Given the description of an element on the screen output the (x, y) to click on. 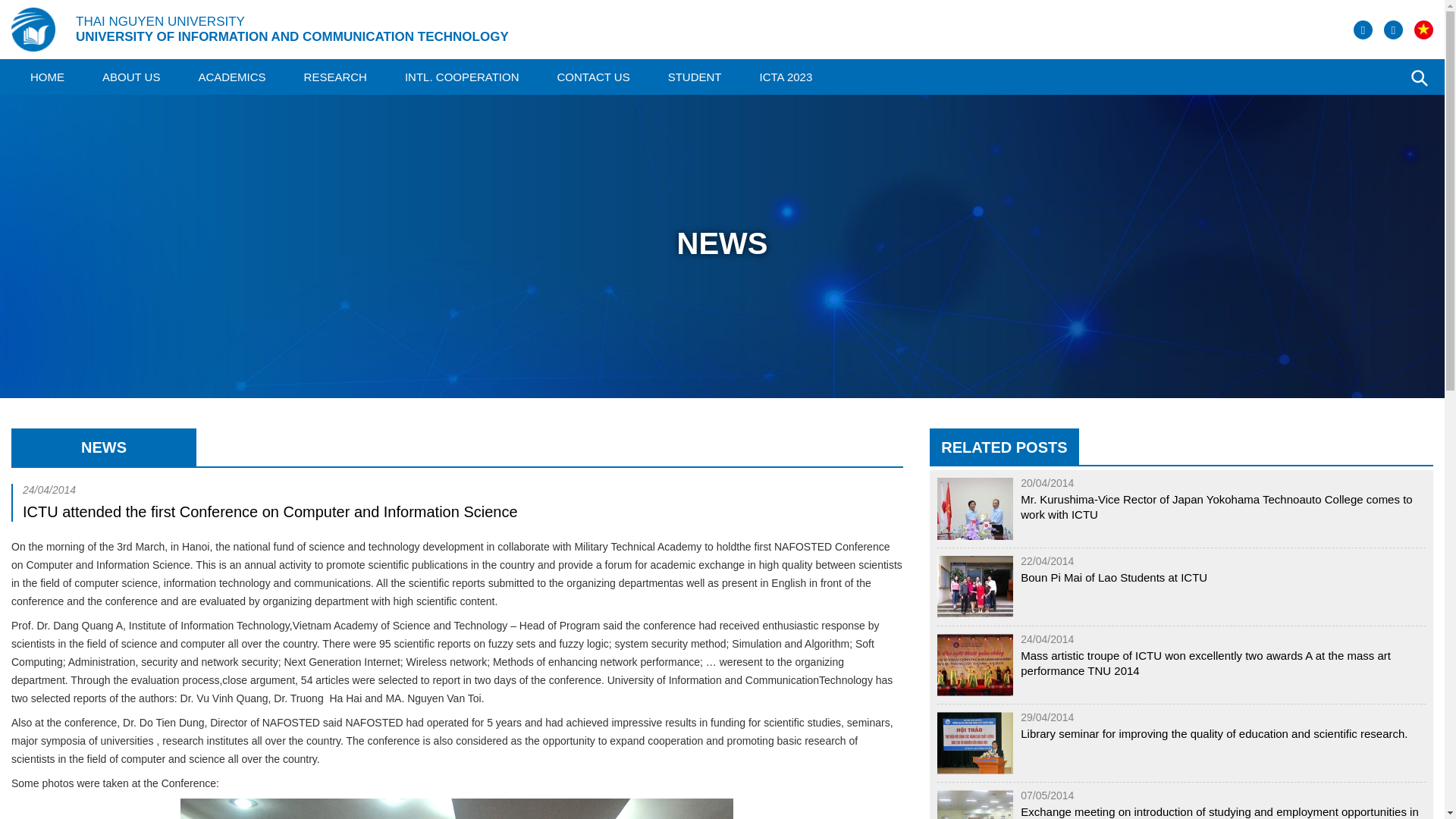
ICTA 2023 (785, 76)
ABOUT US (130, 76)
HOME (46, 76)
Boun Pi Mai of Lao Students at ICTU (1113, 577)
STUDENT (695, 76)
CONTACT US (593, 76)
RESEARCH (335, 76)
INTL. COOPERATION (461, 76)
ACADEMICS (231, 76)
